Given the description of an element on the screen output the (x, y) to click on. 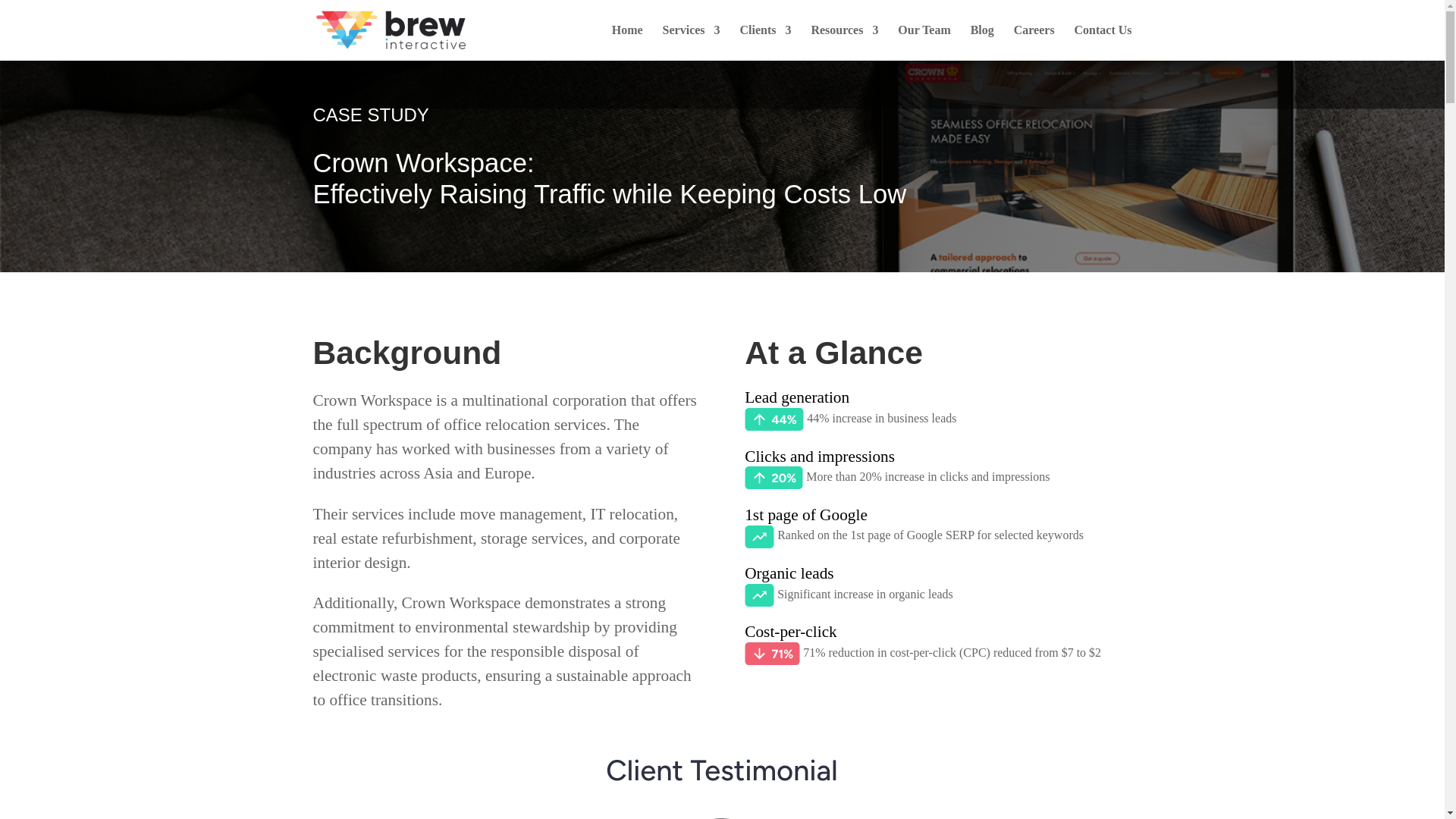
Services (691, 42)
Resources (843, 42)
Contact Us (1102, 42)
Clients (764, 42)
Careers (1033, 42)
Our Team (924, 42)
